Given the description of an element on the screen output the (x, y) to click on. 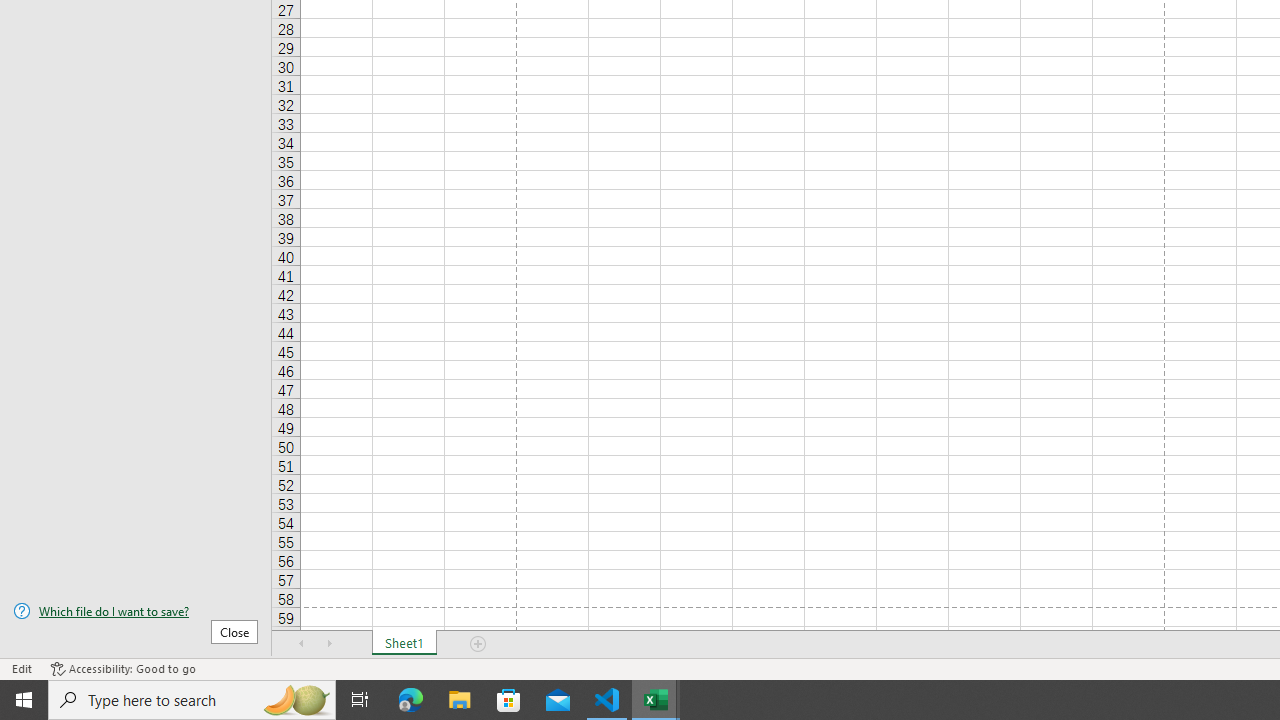
Close (234, 631)
Scroll Left (302, 644)
Scroll Right (330, 644)
Which file do I want to save? (136, 611)
Sheet1 (404, 644)
Add Sheet (478, 644)
Accessibility Checker Accessibility: Good to go (123, 668)
